Given the description of an element on the screen output the (x, y) to click on. 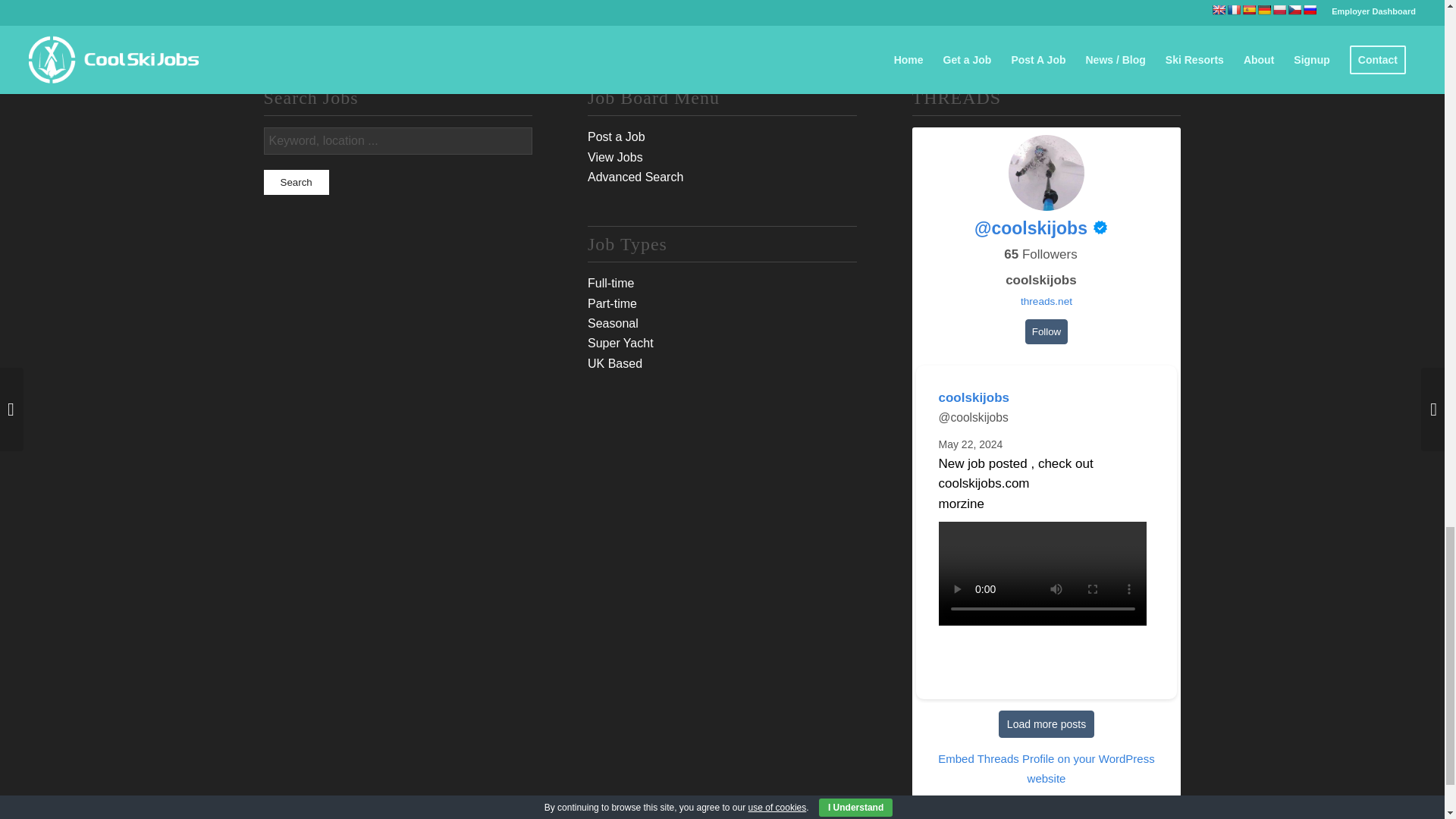
Search (296, 181)
